Given the description of an element on the screen output the (x, y) to click on. 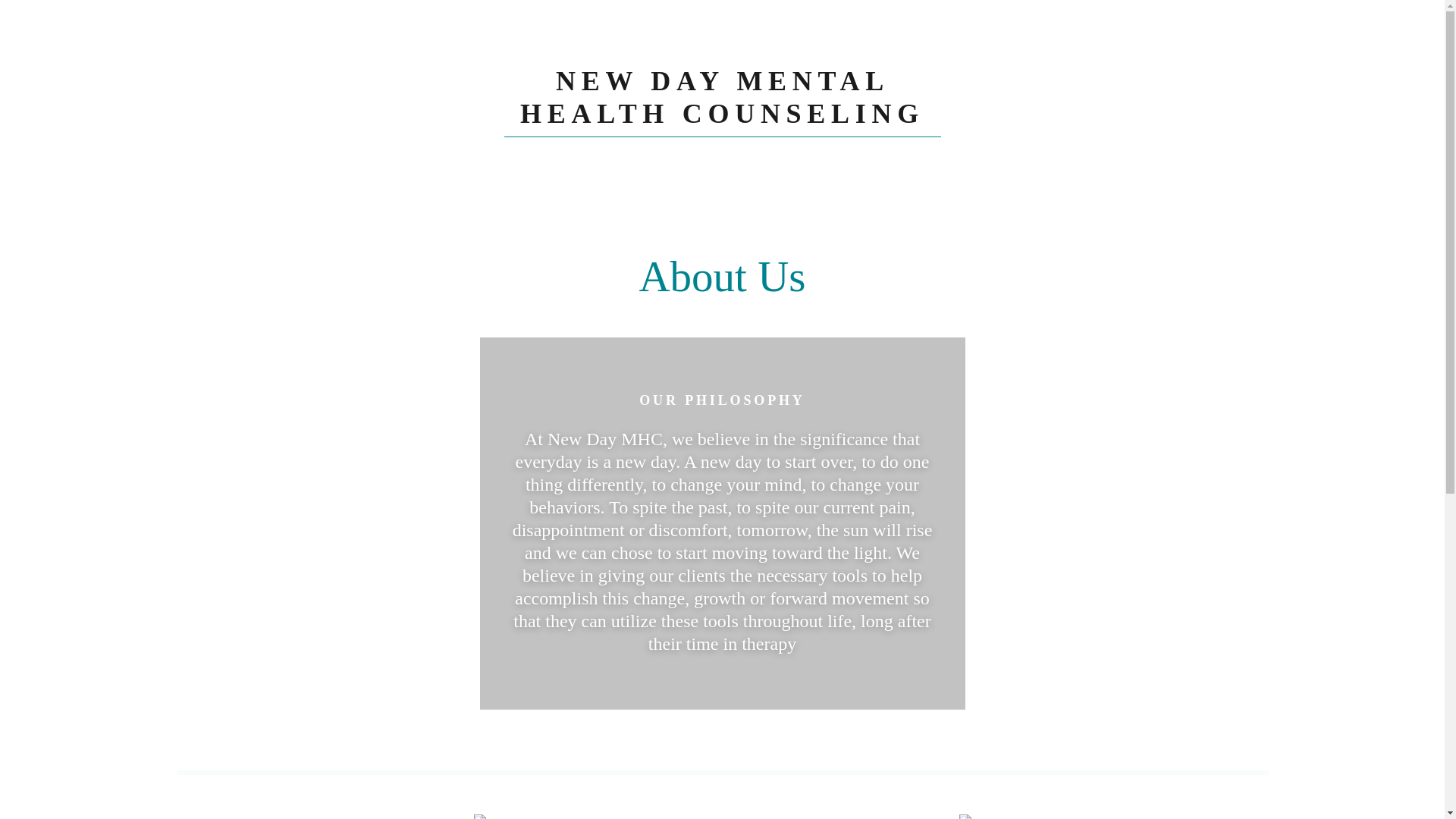
New Day Mental Health Counseling (721, 118)
NEW DAY MENTAL HEALTH COUNSELING (721, 118)
